Given the description of an element on the screen output the (x, y) to click on. 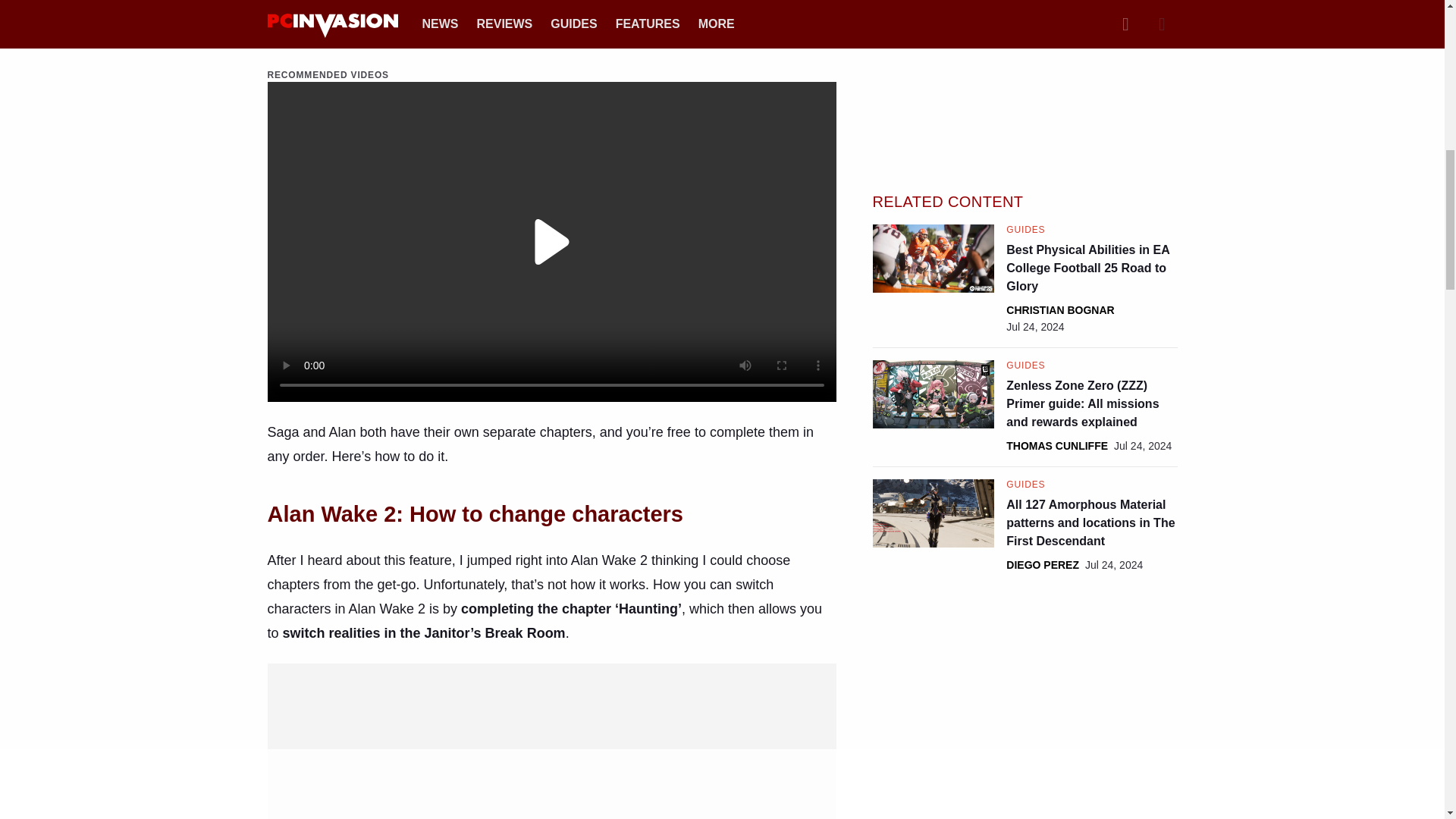
3rd party ad content (552, 709)
3rd party ad content (1024, 83)
